Given the description of an element on the screen output the (x, y) to click on. 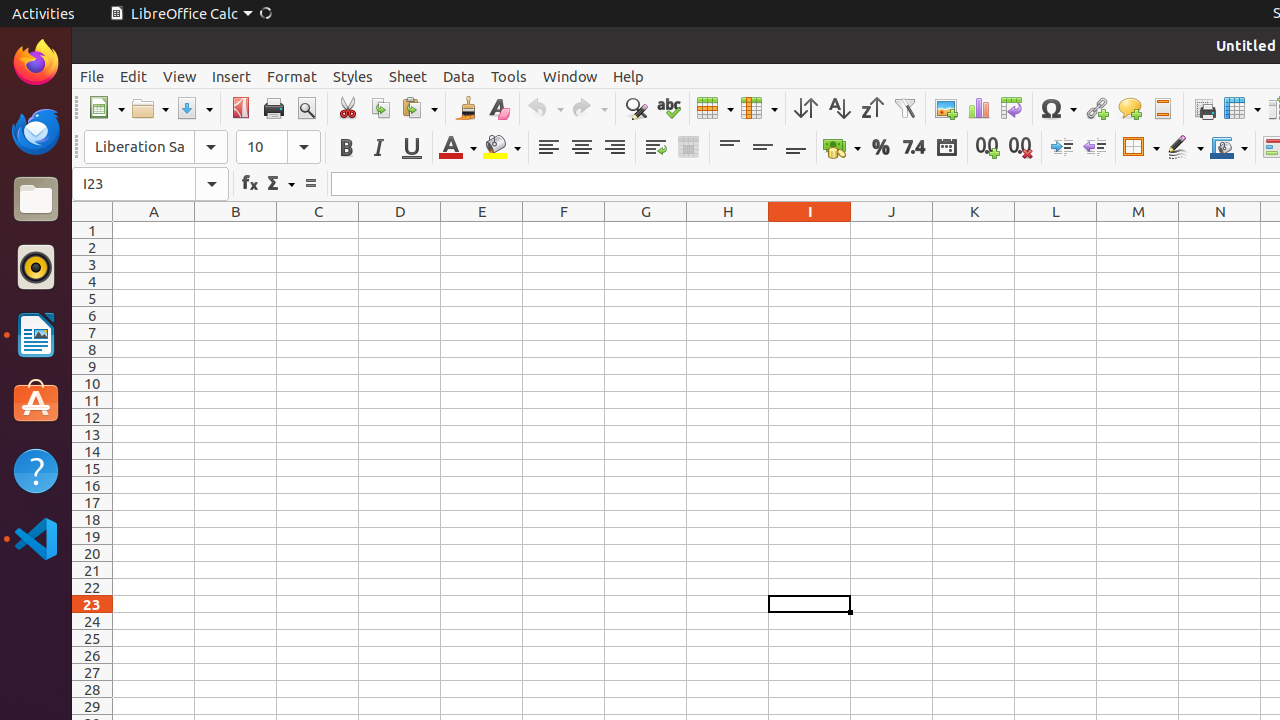
Headers and Footers Element type: push-button (1162, 108)
Font Size Element type: combo-box (278, 147)
Undo Element type: push-button (545, 108)
Spelling Element type: push-button (668, 108)
LibreOffice Calc Element type: menu (189, 13)
